Given the description of an element on the screen output the (x, y) to click on. 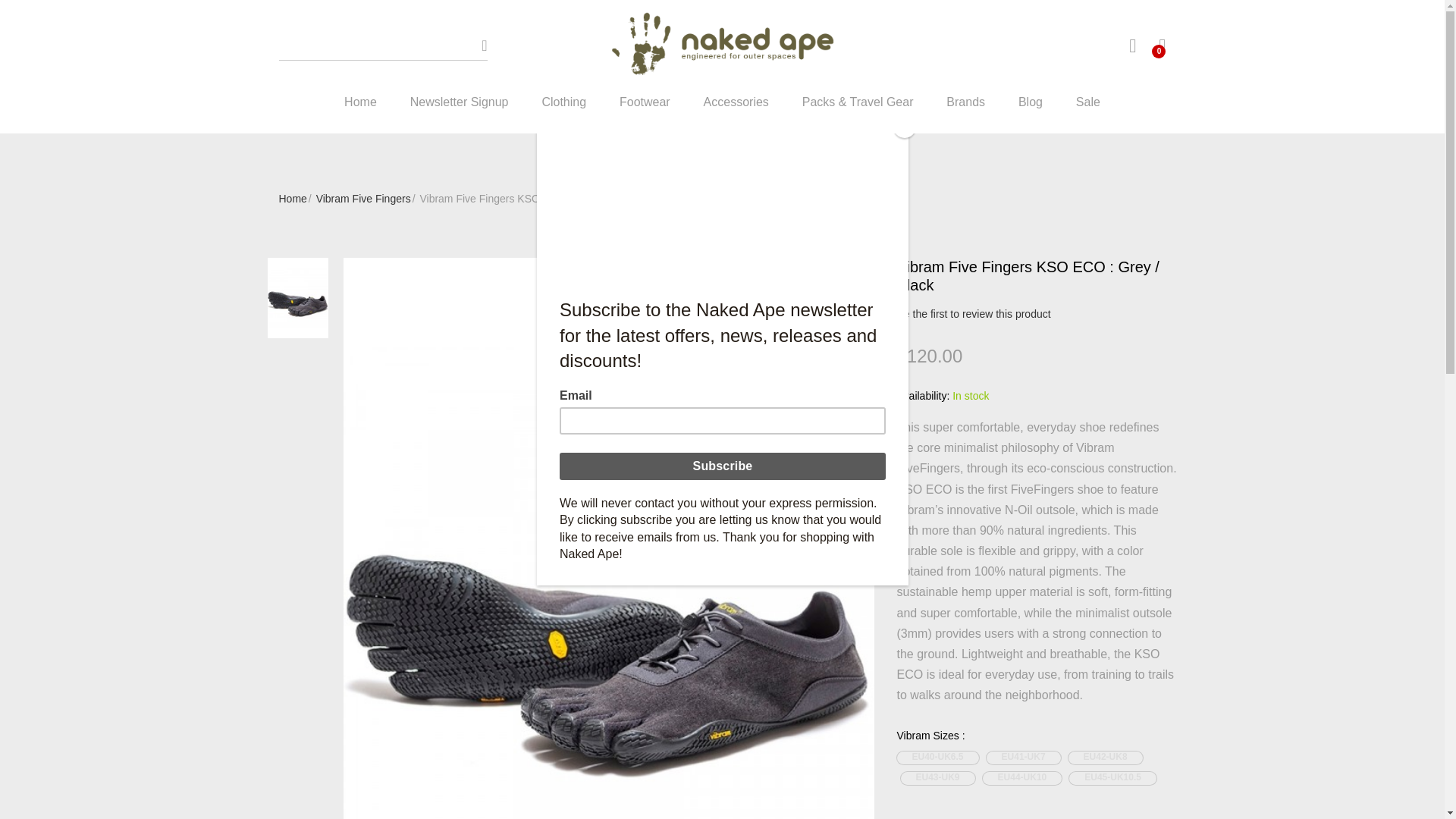
Naked Ape for Patagonia, Vibram Five Fingers (720, 45)
EU42-UK8 (1105, 757)
Go to Home Page (293, 198)
EU40-UK6.5 (937, 757)
EU41-UK7 (1024, 757)
EU43-UK9 (938, 778)
